Given the description of an element on the screen output the (x, y) to click on. 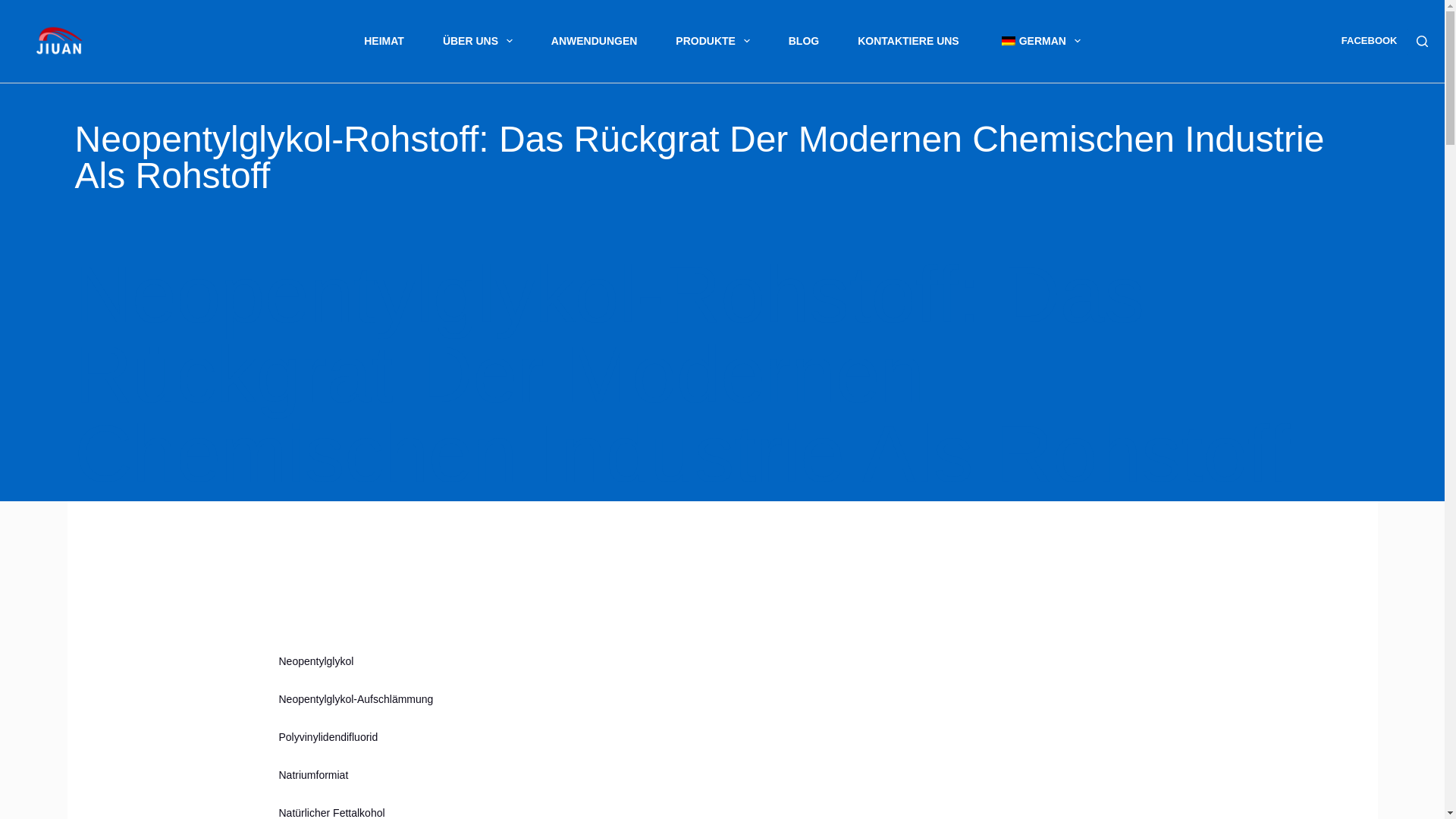
German (1007, 40)
HEIMAT (384, 41)
Zum Inhalt springen (15, 7)
